Given the description of an element on the screen output the (x, y) to click on. 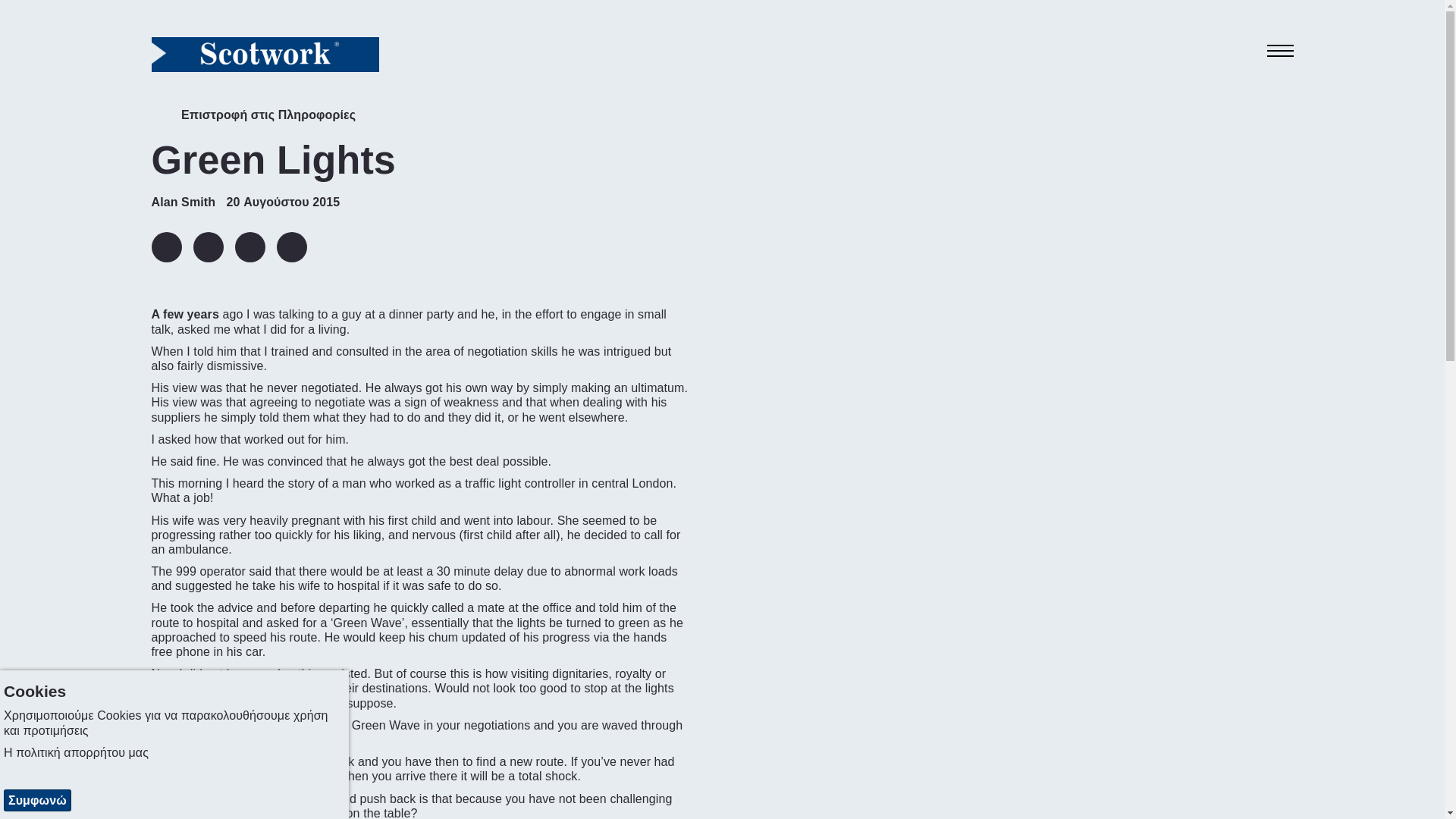
home (264, 54)
twitter (207, 246)
rss (290, 246)
facebook (249, 246)
linkedin (166, 246)
